Given the description of an element on the screen output the (x, y) to click on. 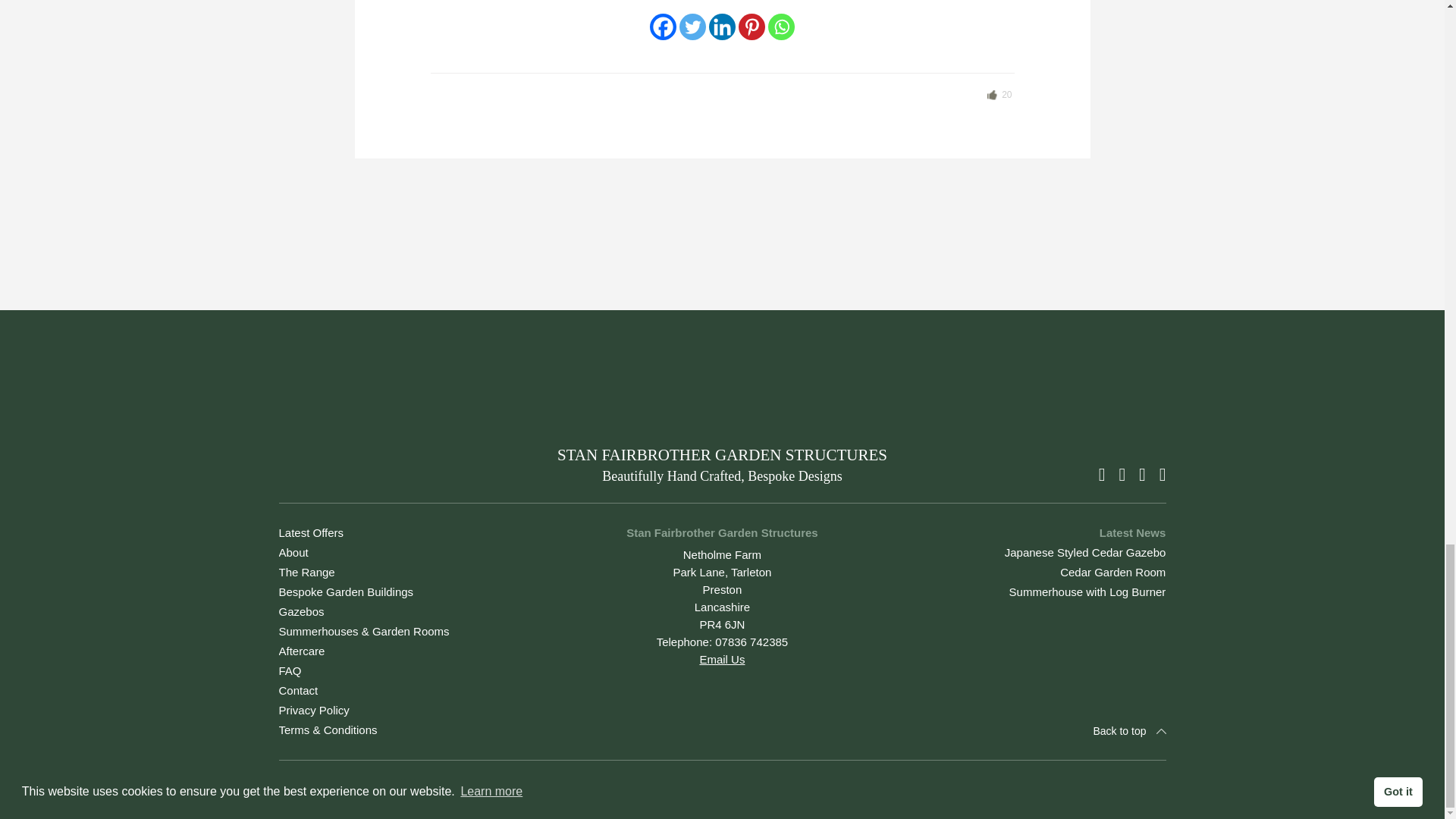
About (293, 552)
Whatsapp (781, 26)
Email Us (721, 658)
Latest Offers (311, 532)
Pinterest (751, 26)
Japanese Styled Cedar Gazebo (1085, 552)
Facebook (663, 26)
Twitter (692, 26)
Gazebos (301, 611)
FAQ (290, 670)
Linkedin (722, 26)
Cedar Garden Room (1112, 571)
Contact (298, 689)
The Range (306, 571)
Privacy Policy (314, 709)
